Given the description of an element on the screen output the (x, y) to click on. 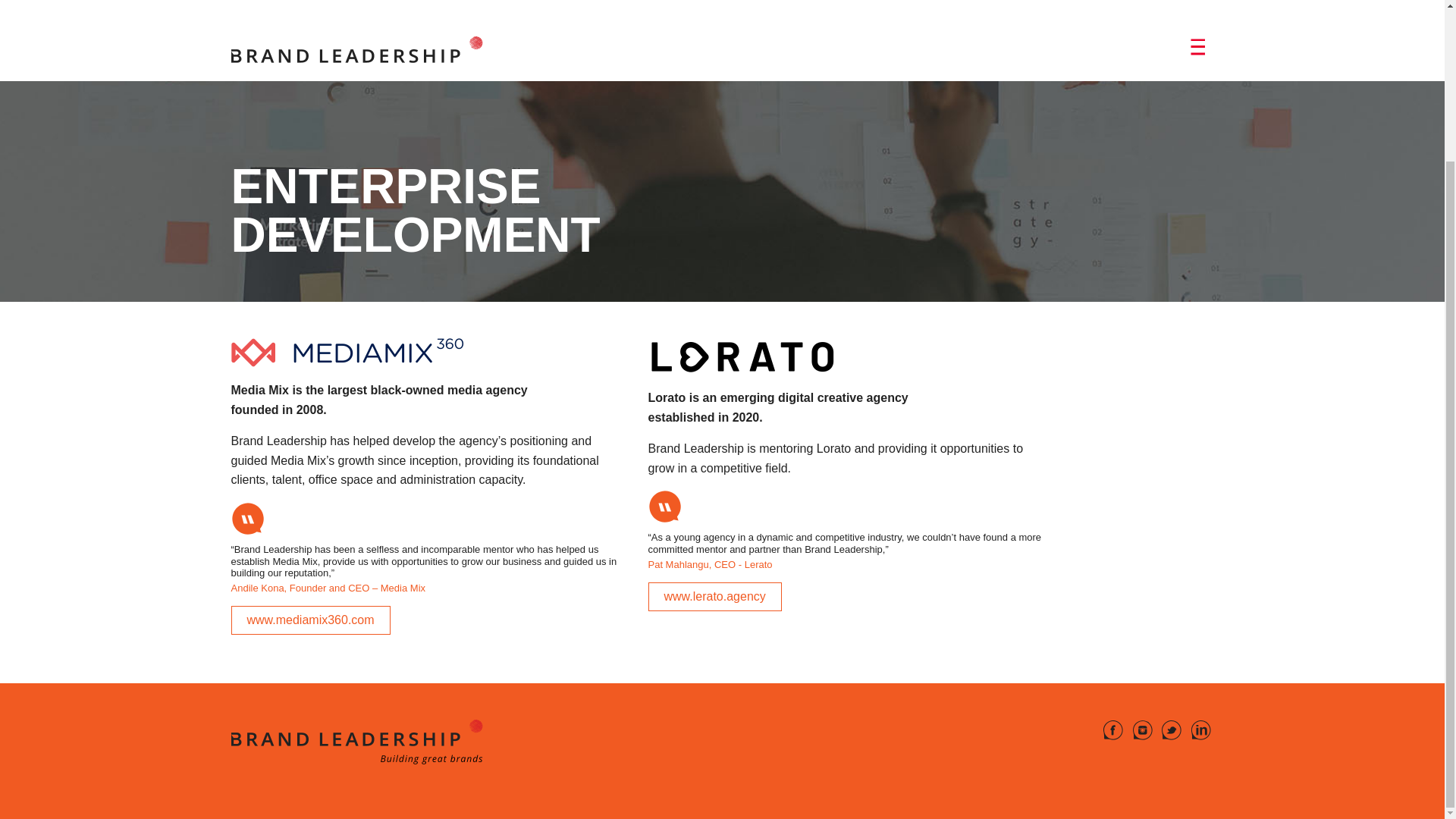
www.lerato.agency (713, 596)
www.mediamix360.com (310, 620)
